Given the description of an element on the screen output the (x, y) to click on. 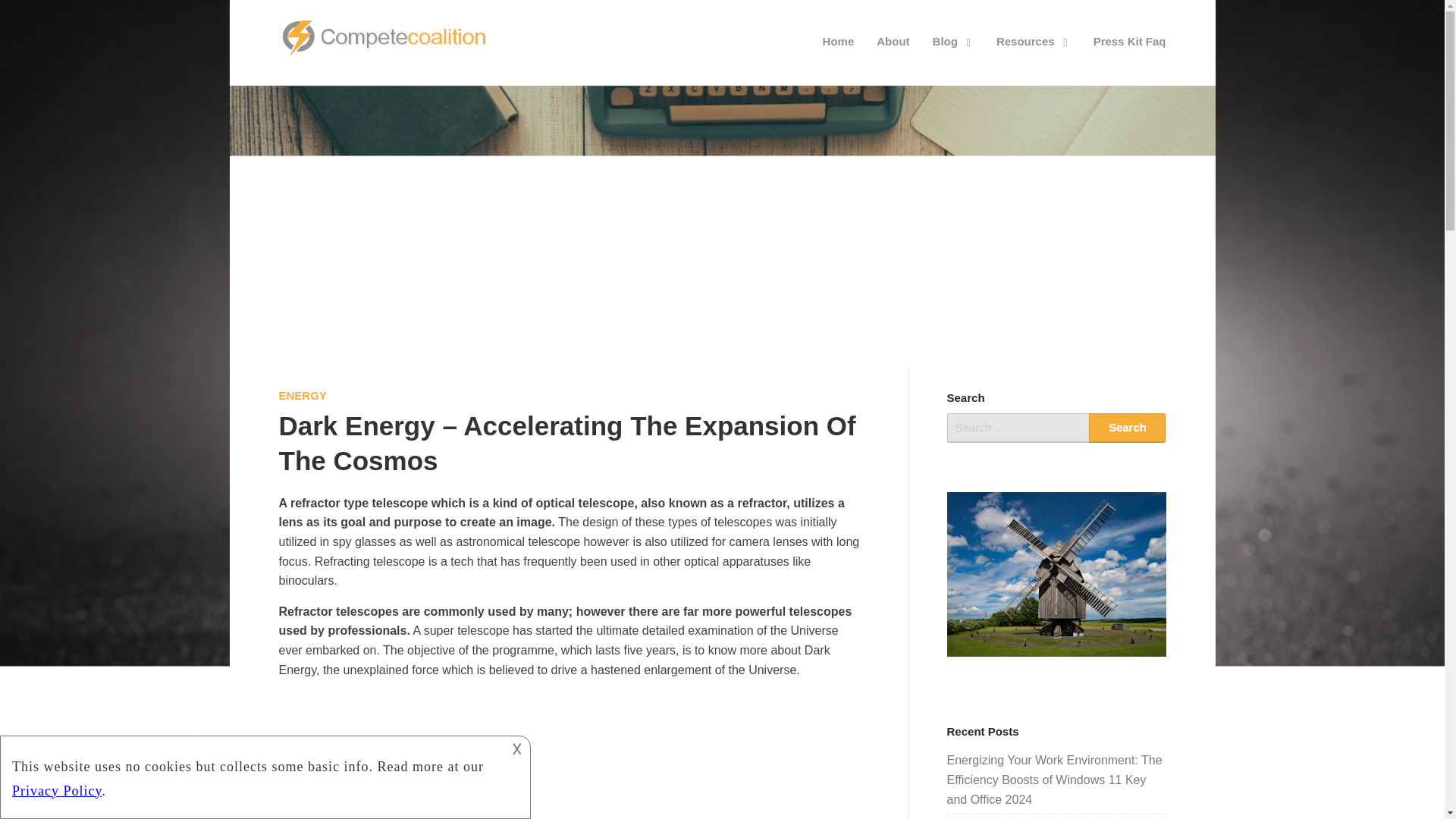
Search (1127, 428)
Resources (1033, 41)
Search (1127, 428)
Home (838, 41)
description (252, 774)
Search (1127, 428)
Press Kit Faq (1129, 41)
ENERGY (302, 395)
Blog (953, 41)
